Given the description of an element on the screen output the (x, y) to click on. 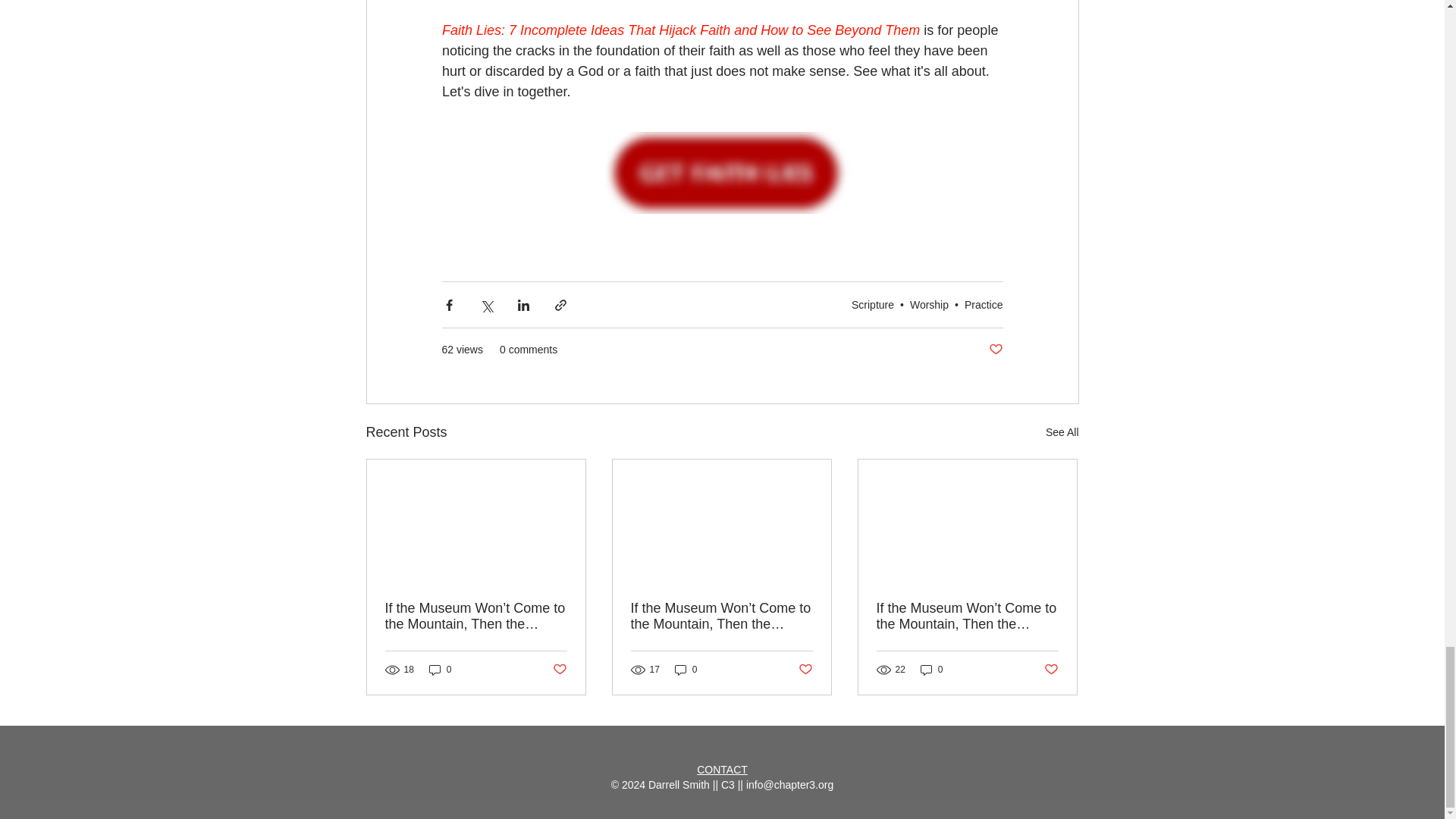
Post not marked as liked (995, 349)
Scripture (872, 304)
Worship (929, 304)
Practice (983, 304)
